Given the description of an element on the screen output the (x, y) to click on. 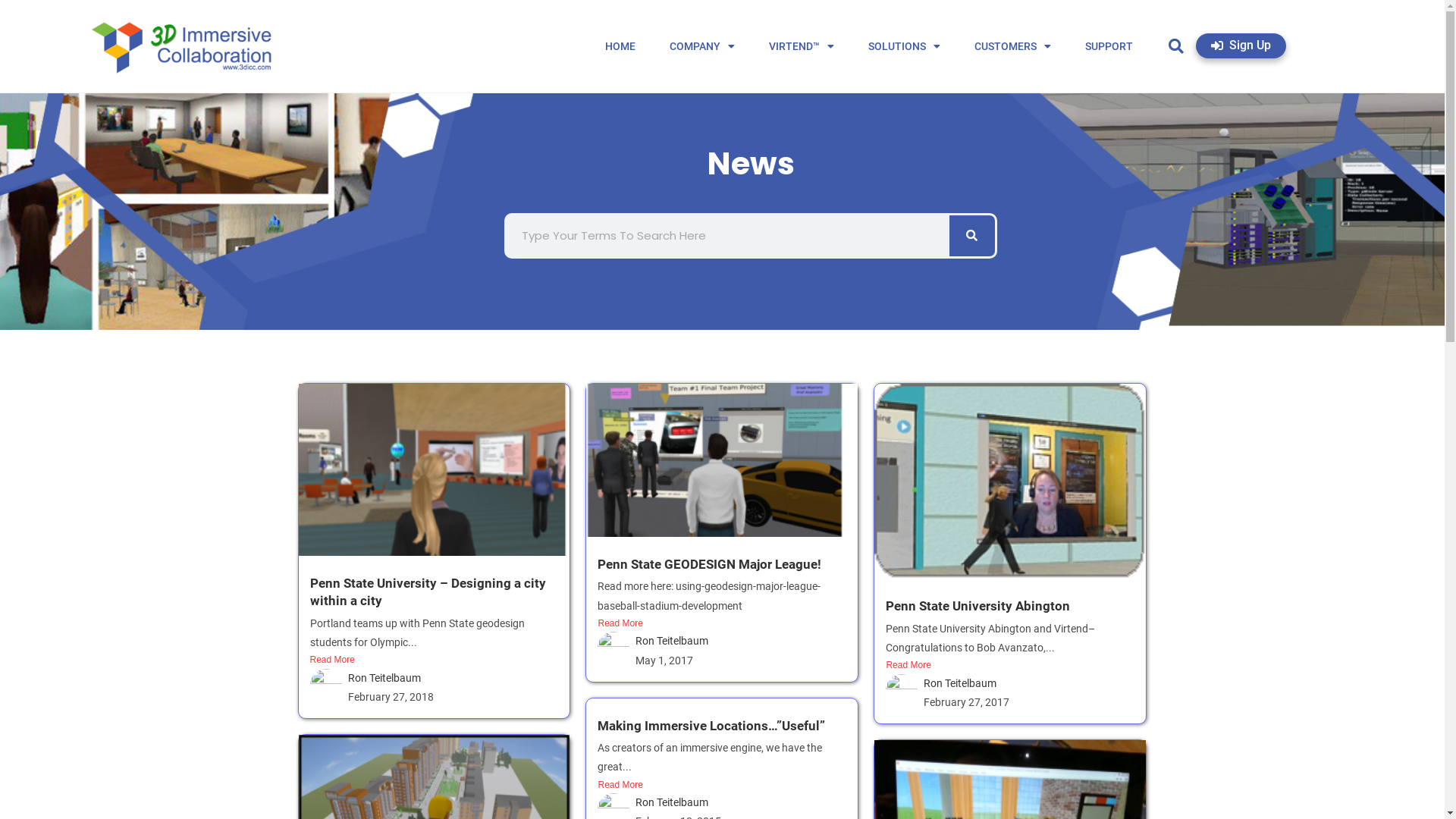
Ron Teitelbaum Element type: text (383, 677)
Search Element type: hover (971, 235)
Sign Up Element type: text (1240, 45)
CUSTOMERS Element type: text (1012, 45)
Read More Element type: text (721, 623)
Search Element type: hover (727, 235)
Ron Teitelbaum Element type: text (671, 640)
Penn State University Abington Element type: text (977, 605)
HOME Element type: text (619, 45)
SUPPORT Element type: text (1109, 45)
Read More Element type: text (721, 785)
SOLUTIONS Element type: text (904, 45)
Ron Teitelbaum Element type: text (671, 802)
Read More Element type: text (1009, 665)
Penn State GEODESIGN Major League! Element type: text (709, 563)
Ron Teitelbaum Element type: text (959, 683)
Read More Element type: text (433, 660)
COMPANY Element type: text (701, 45)
